Given the description of an element on the screen output the (x, y) to click on. 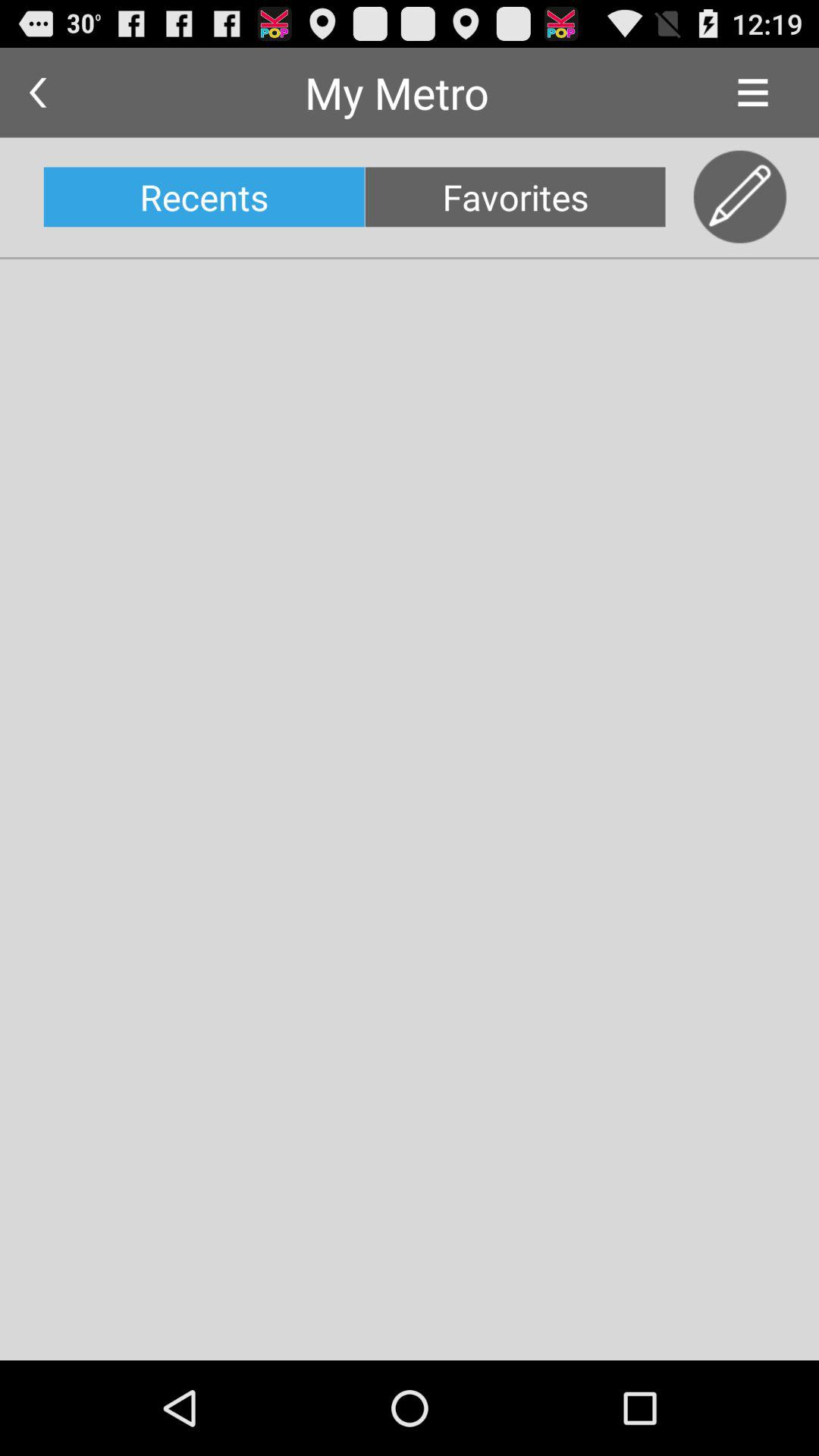
select the app next to favorites icon (740, 197)
